Given the description of an element on the screen output the (x, y) to click on. 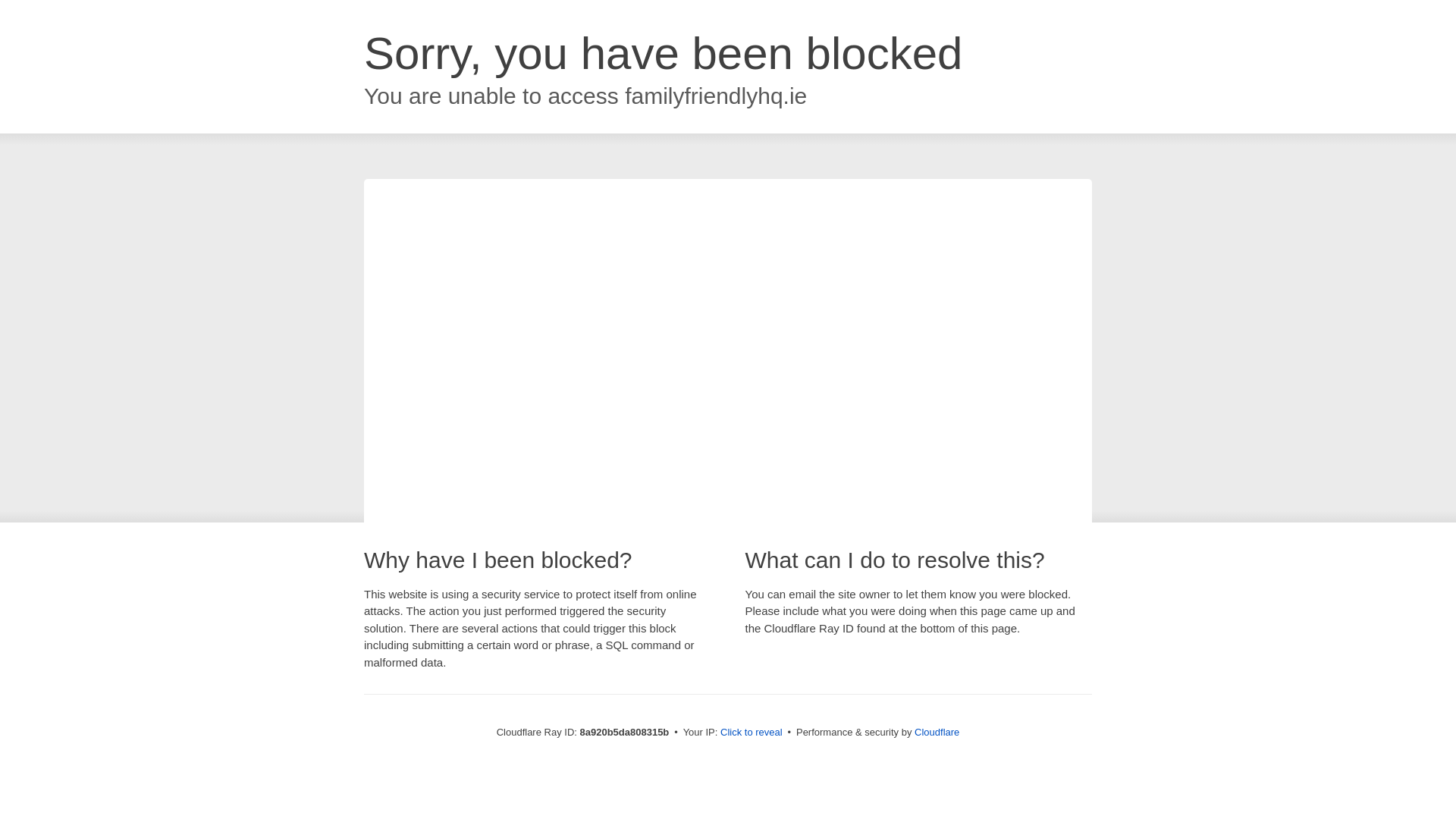
Click to reveal (751, 732)
Cloudflare (936, 731)
